Given the description of an element on the screen output the (x, y) to click on. 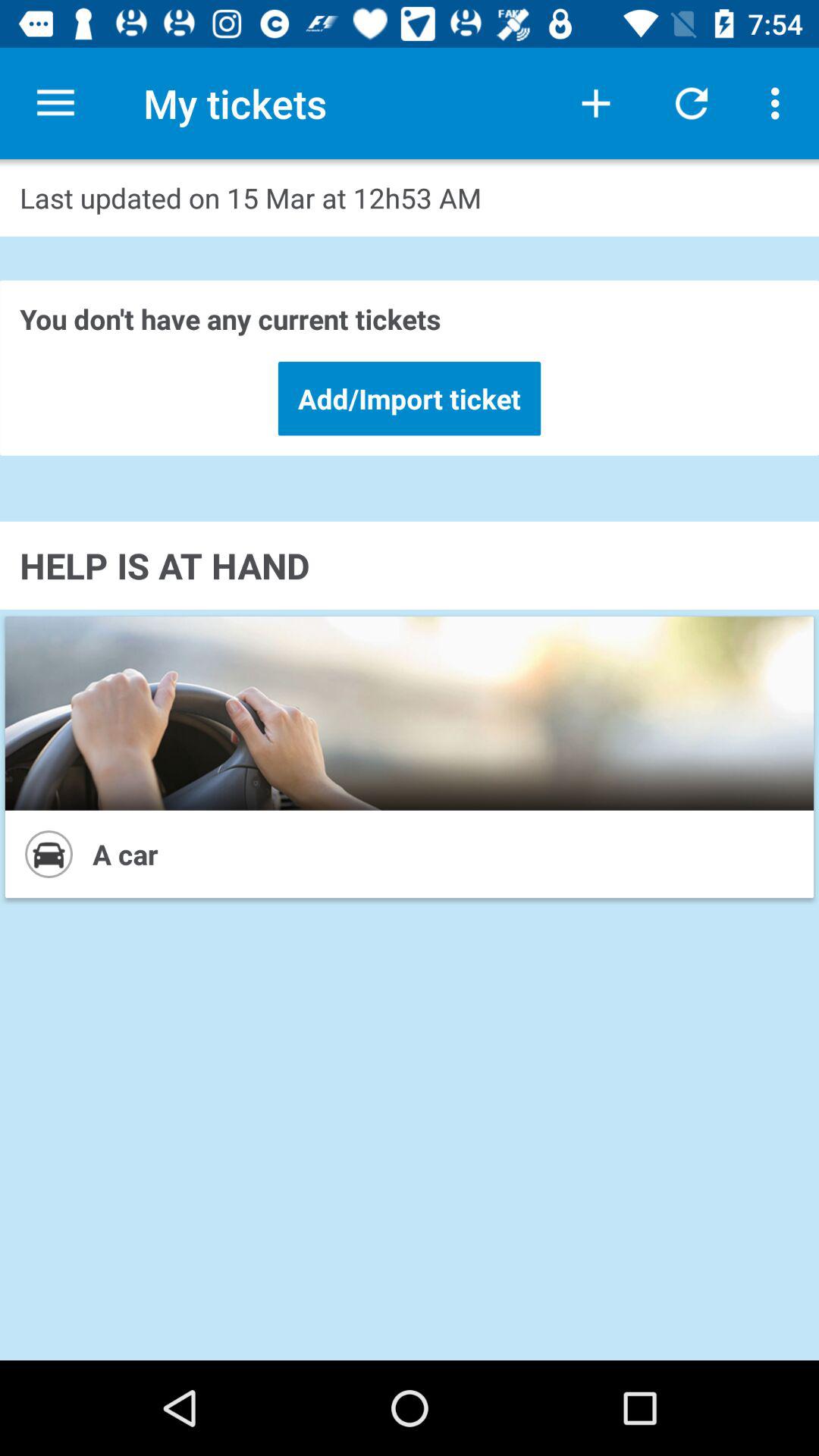
tap icon above the help is at item (409, 398)
